Given the description of an element on the screen output the (x, y) to click on. 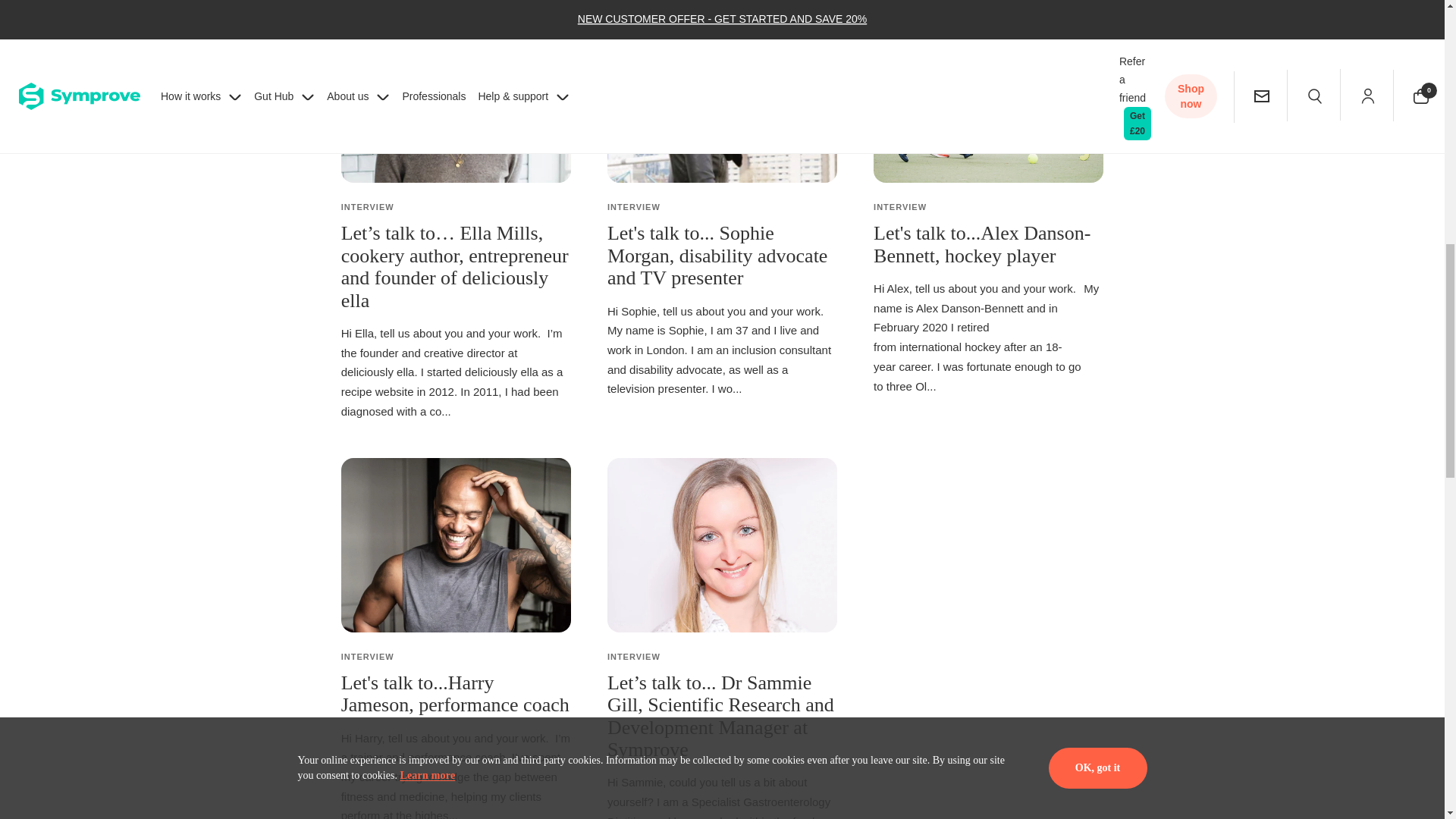
Let's talk to...Harry Jameson, performance coach (454, 693)
INTERVIEW (367, 206)
INTERVIEW (367, 656)
INTERVIEW (899, 206)
INTERVIEW (634, 206)
Let's talk to...Alex Danson-Bennett, hockey player (981, 243)
